Given the description of an element on the screen output the (x, y) to click on. 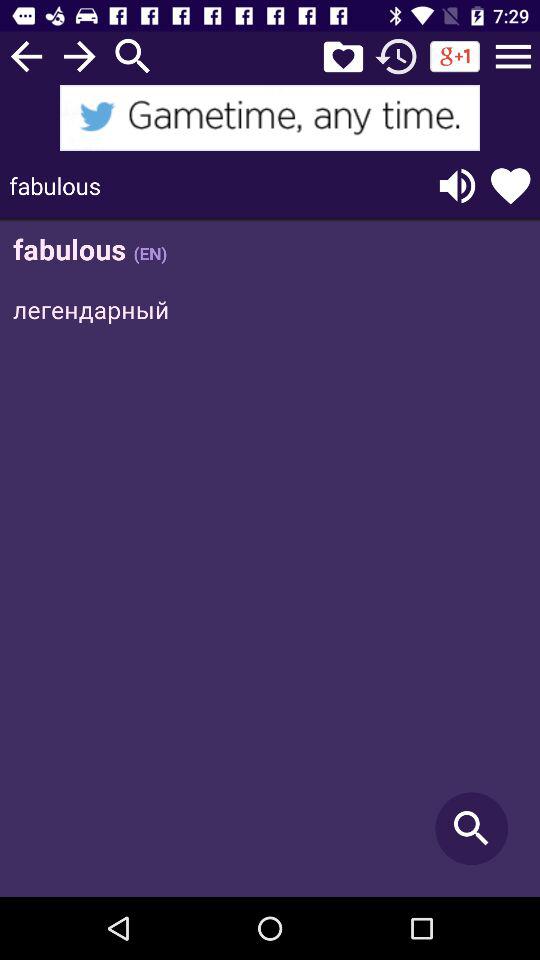
back option (26, 56)
